Given the description of an element on the screen output the (x, y) to click on. 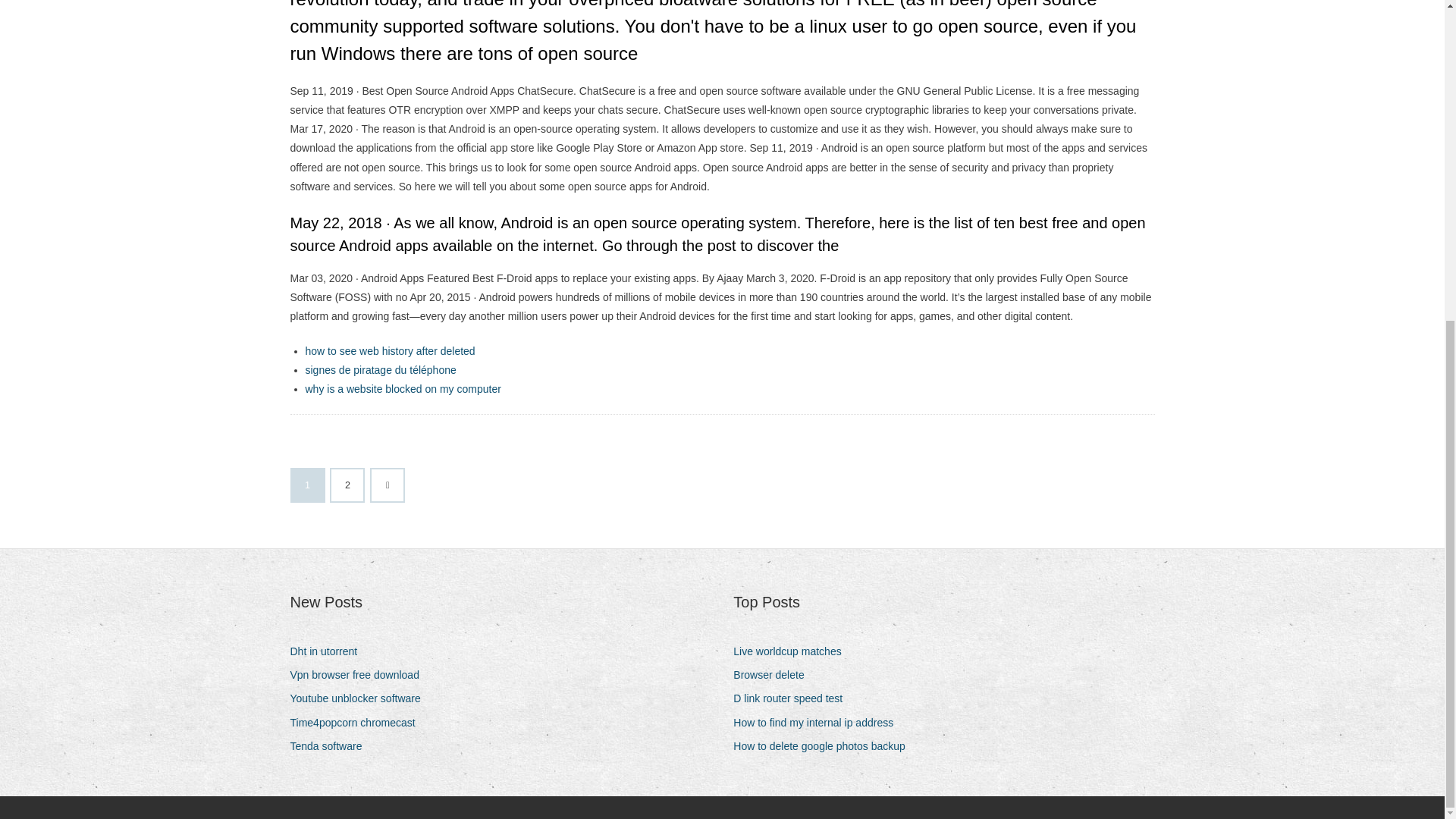
Tenda software (330, 746)
Browser delete (774, 675)
Live worldcup matches (792, 651)
Time4popcorn chromecast (357, 722)
how to see web history after deleted (389, 350)
Vpn browser free download (359, 675)
2 (346, 485)
How to delete google photos backup (825, 746)
How to find my internal ip address (818, 722)
why is a website blocked on my computer (402, 388)
Youtube unblocker software (359, 698)
Dht in utorrent (328, 651)
D link router speed test (793, 698)
